Given the description of an element on the screen output the (x, y) to click on. 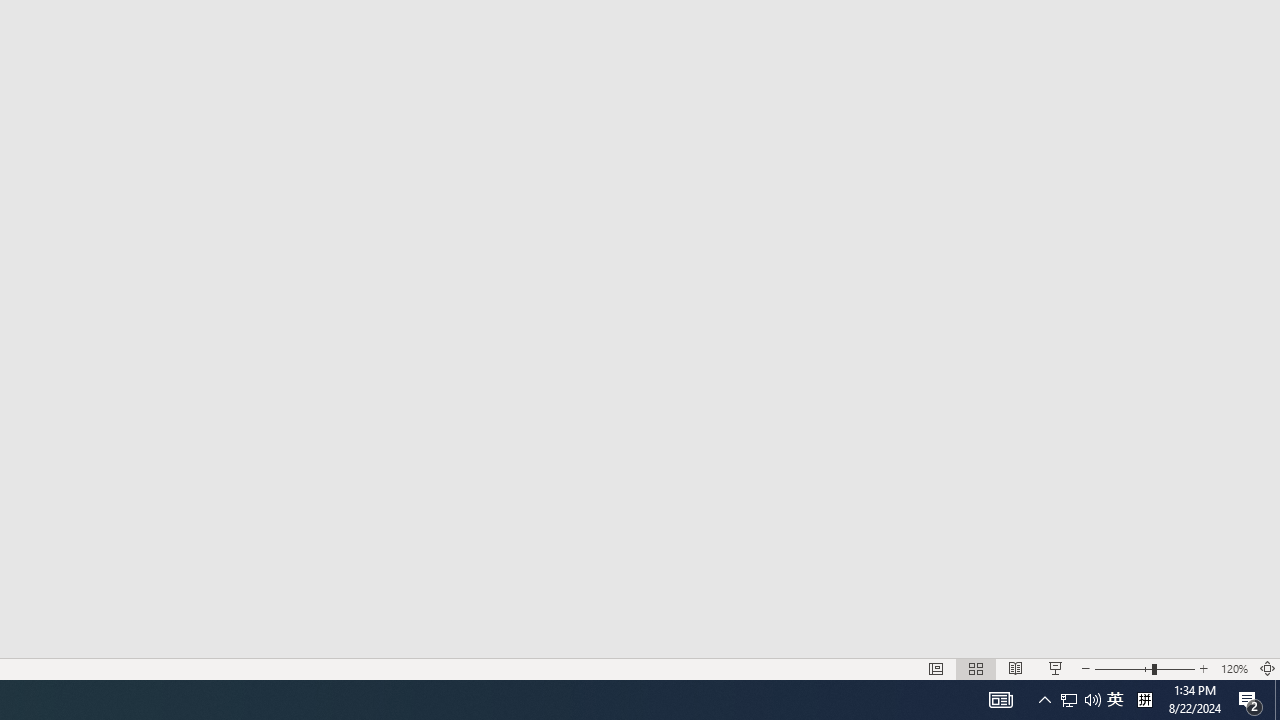
Action Center, 2 new notifications (1115, 699)
Q2790: 100% (1250, 699)
